Given the description of an element on the screen output the (x, y) to click on. 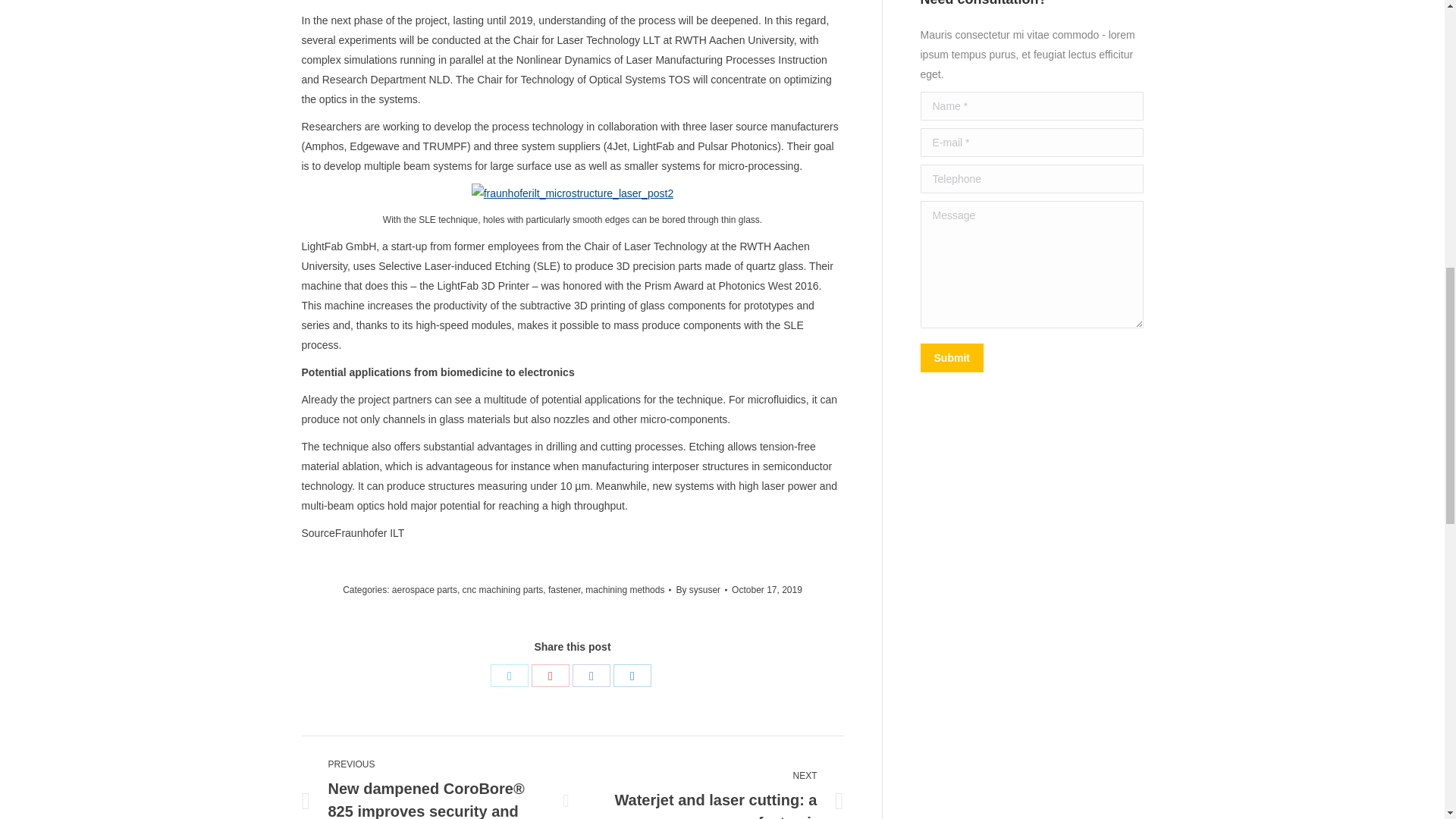
cnc machining parts (503, 589)
fastener (564, 589)
3:24 am (767, 589)
View all posts by sysuser (700, 589)
Facebook (591, 675)
aerospace parts (424, 589)
Share on Twitter (509, 675)
Twitter (509, 675)
Pinterest (550, 675)
submit (1024, 359)
